Given the description of an element on the screen output the (x, y) to click on. 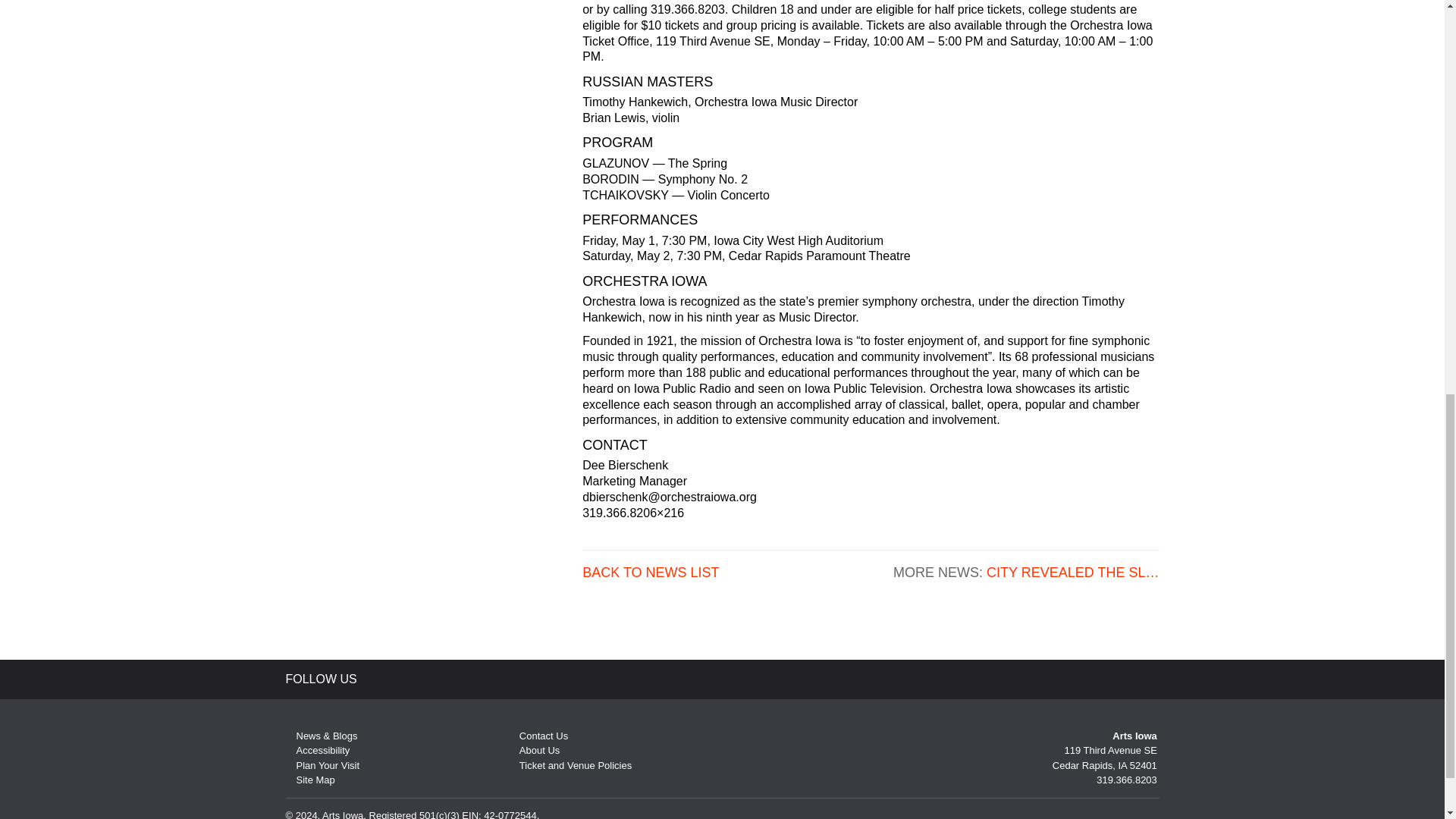
Twitter (387, 678)
Youtube (453, 678)
Accessibility (317, 749)
About Us (533, 749)
Facebook (420, 678)
BACK TO NEWS LIST (650, 572)
Contact Us (537, 736)
Plan Your Visit (322, 765)
